Given the description of an element on the screen output the (x, y) to click on. 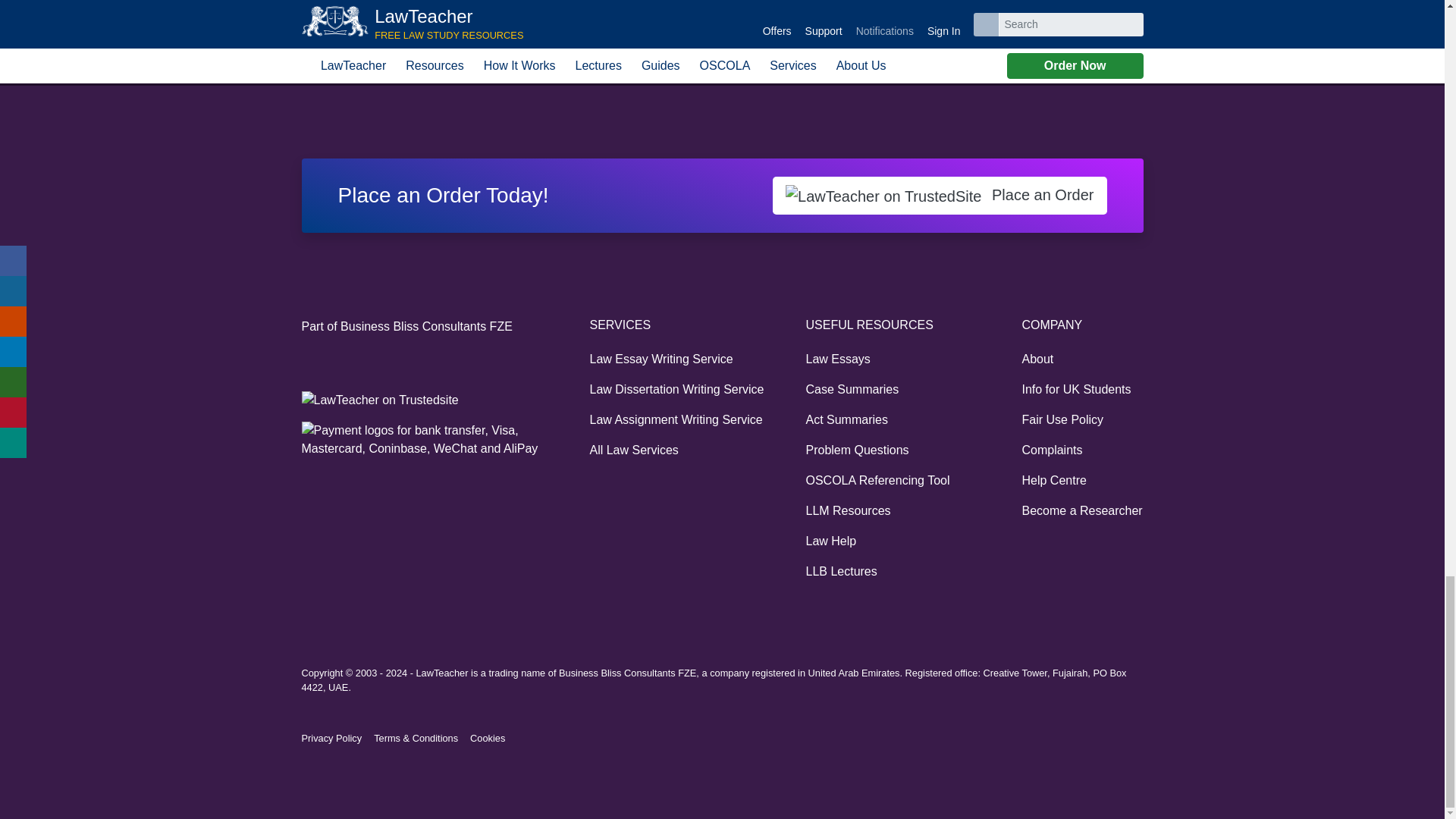
homepage link (309, 69)
